Given the description of an element on the screen output the (x, y) to click on. 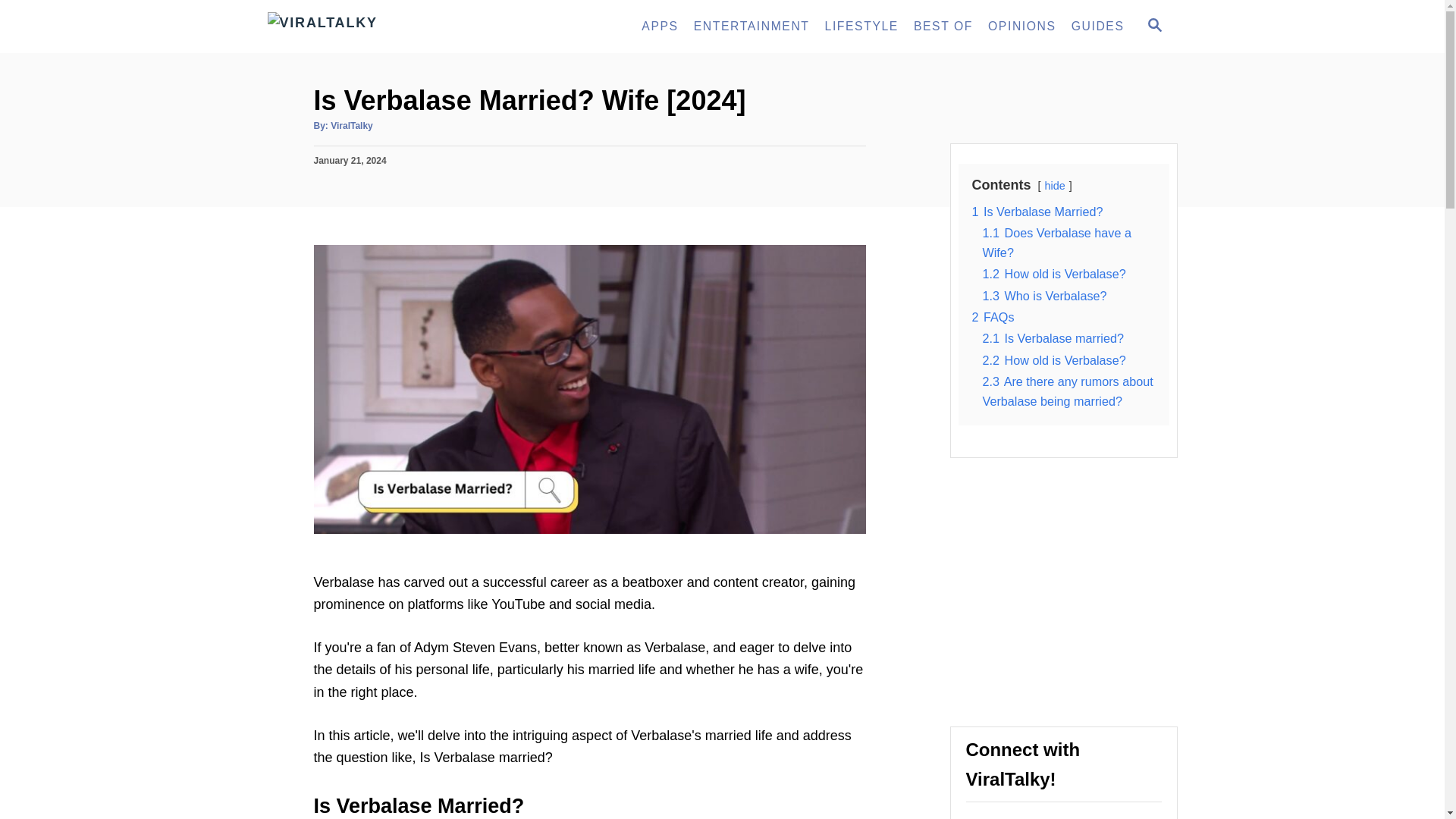
GUIDES (1098, 26)
1.1 Does Verbalase have a Wife? (1056, 242)
OPINIONS (1021, 26)
ViralTalky (403, 26)
ENTERTAINMENT (750, 26)
SEARCH (1153, 26)
1 Is Verbalase Married? (1037, 211)
BEST OF (942, 26)
LIFESTYLE (860, 26)
APPS (659, 26)
